Given the description of an element on the screen output the (x, y) to click on. 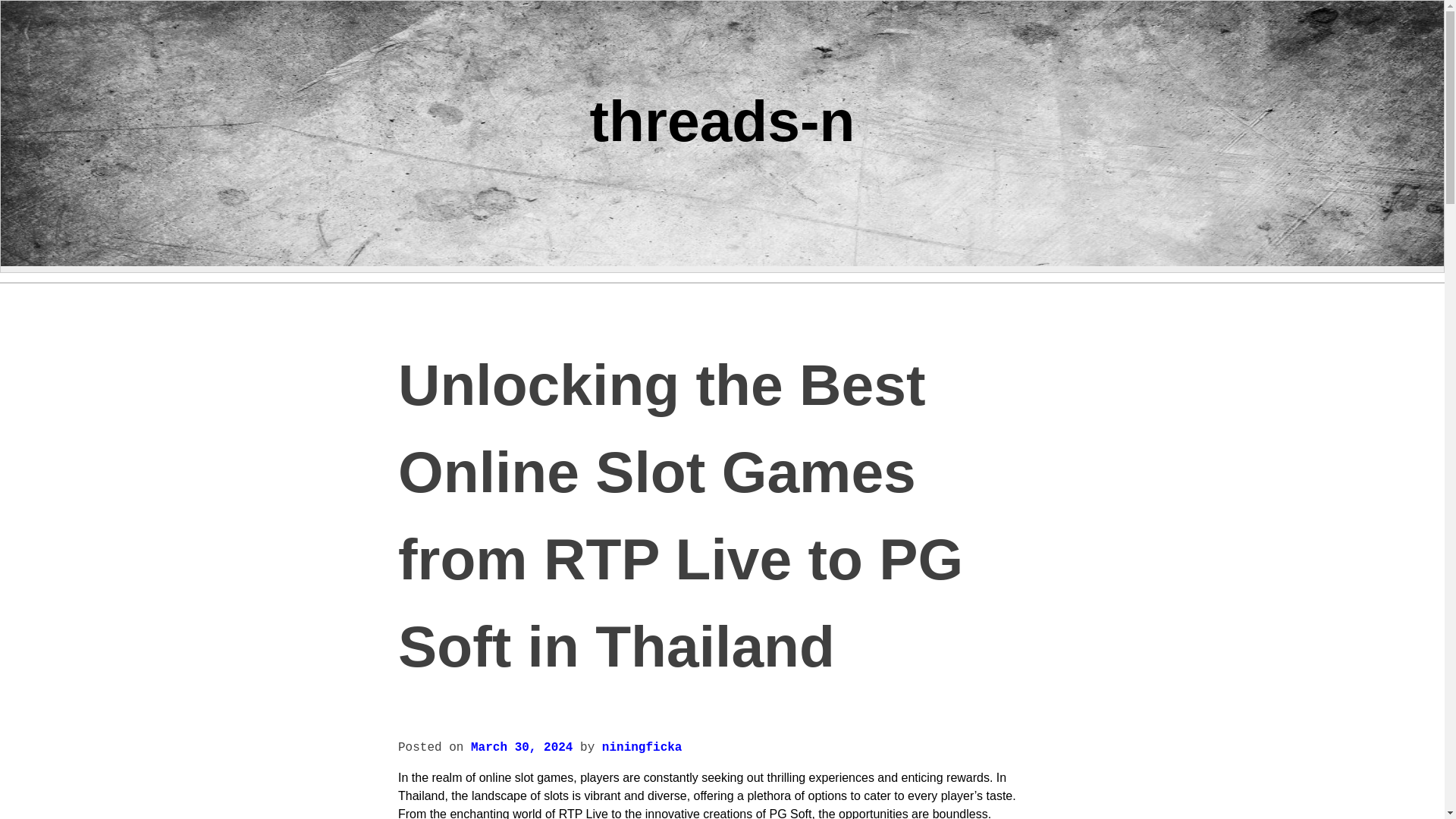
threads-n (722, 120)
March 30, 2024 (521, 747)
niningficka (642, 747)
